Given the description of an element on the screen output the (x, y) to click on. 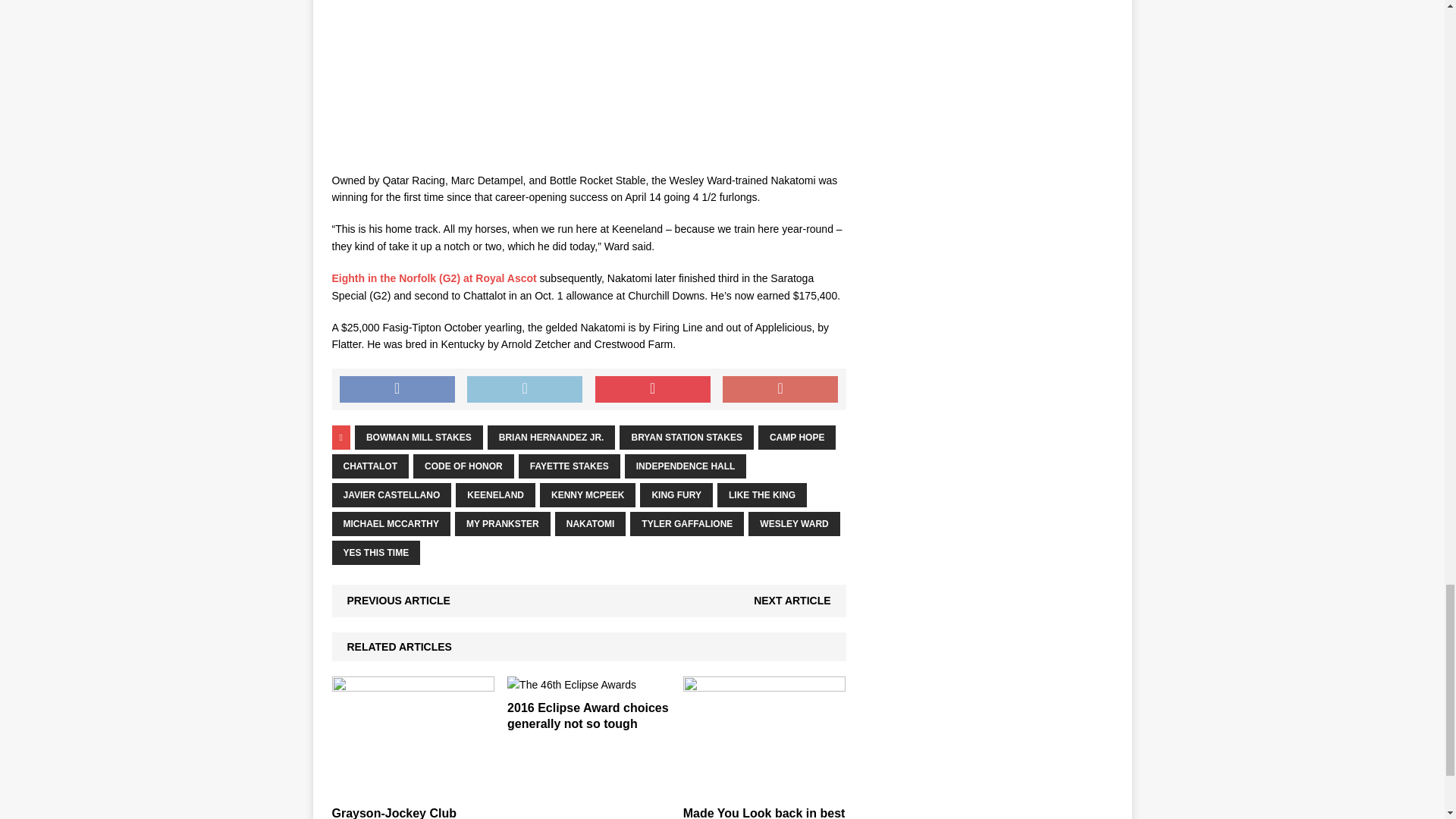
2016 Eclipse Award choices generally not so tough (571, 684)
Pin This Post (652, 389)
2016 Eclipse Award choices generally not so tough (587, 715)
Tweet This Post (524, 389)
Nakatomi wins the 2021 Bowman Mill at Keeneland (588, 78)
Share on Facebook (396, 389)
